Given the description of an element on the screen output the (x, y) to click on. 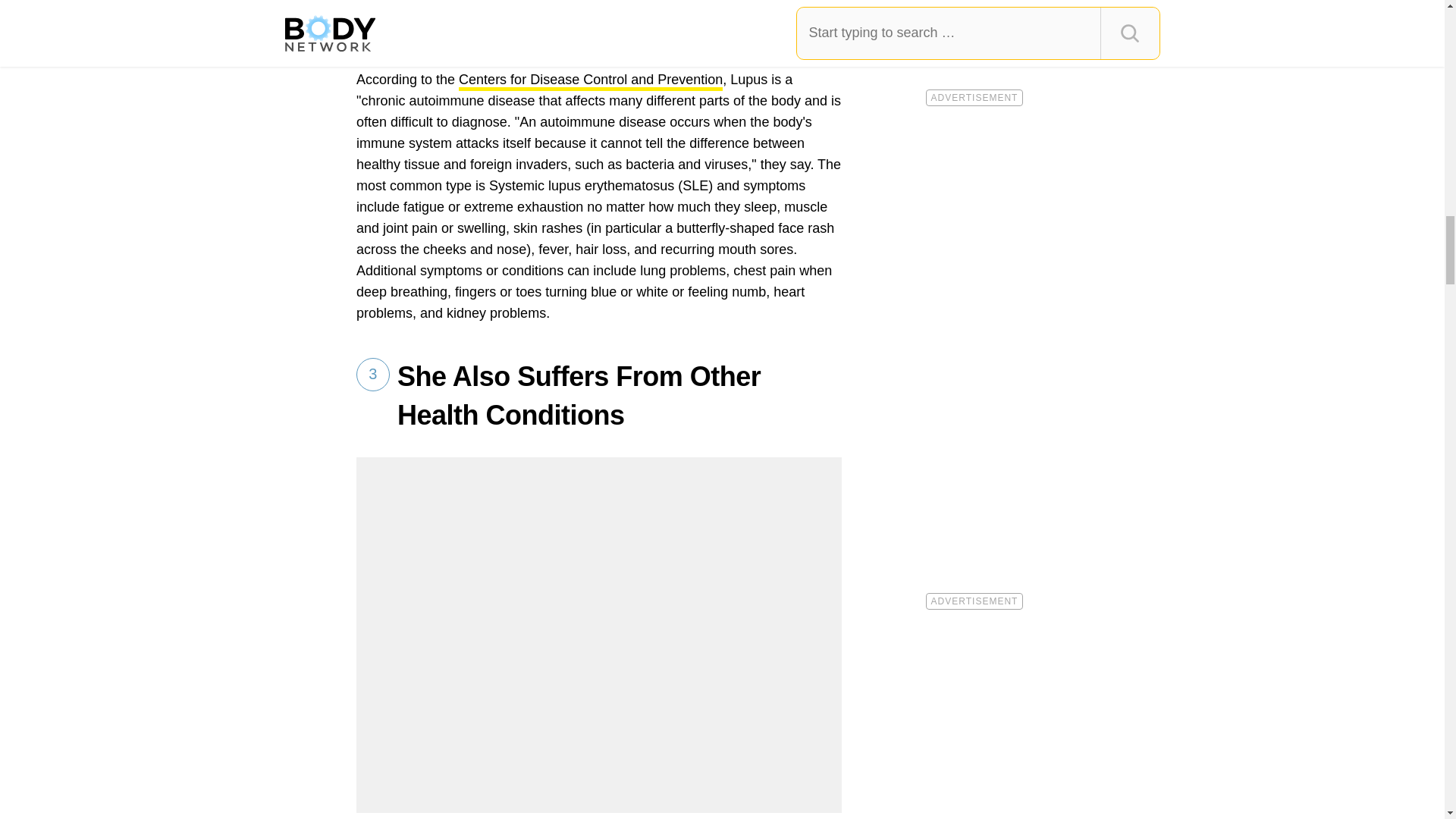
Centers for Disease Control and Prevention (590, 81)
